Given the description of an element on the screen output the (x, y) to click on. 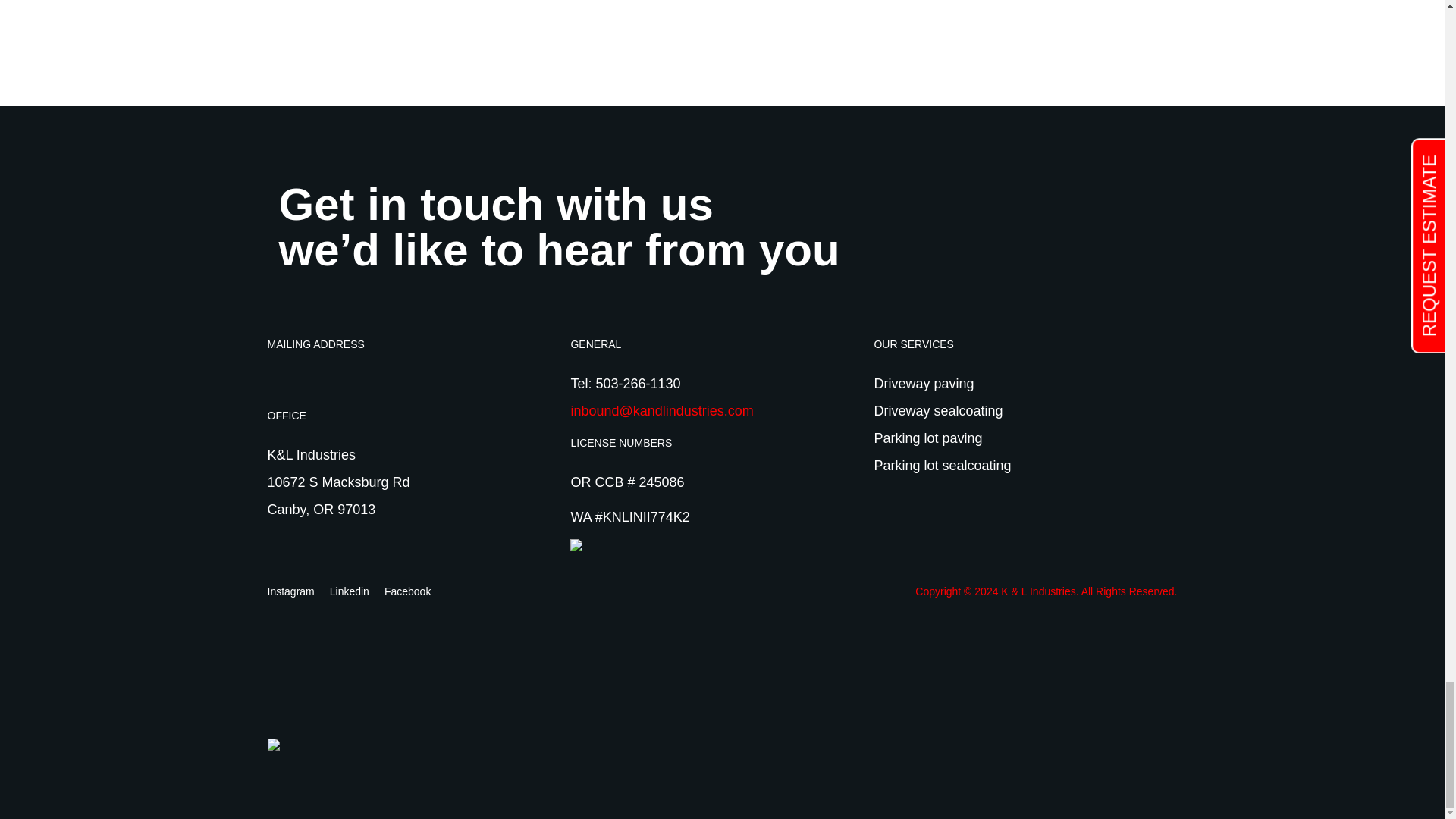
Facebook (407, 591)
503-266-1130 (637, 383)
Linkedin (349, 591)
Instagram (290, 591)
